Given the description of an element on the screen output the (x, y) to click on. 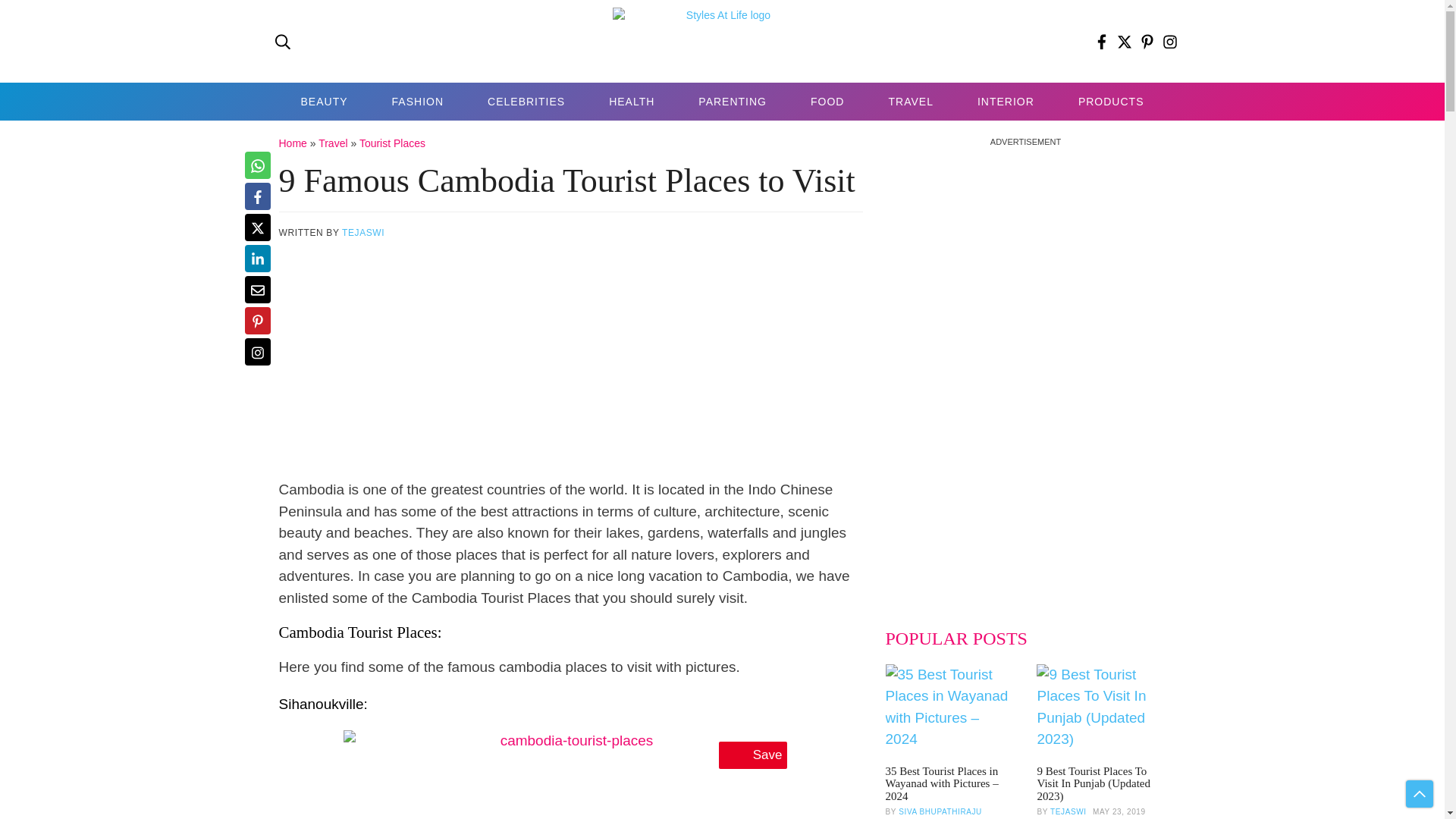
Pin on Pinterest (256, 320)
FOOD (827, 101)
Home (293, 143)
HEALTH (631, 101)
TRAVEL (910, 101)
BEAUTY (324, 101)
Posts by Siva Bhupathiraju (939, 811)
Share on Facebook (256, 195)
TEJASWI (363, 232)
Share on WhatsApp (256, 165)
